Given the description of an element on the screen output the (x, y) to click on. 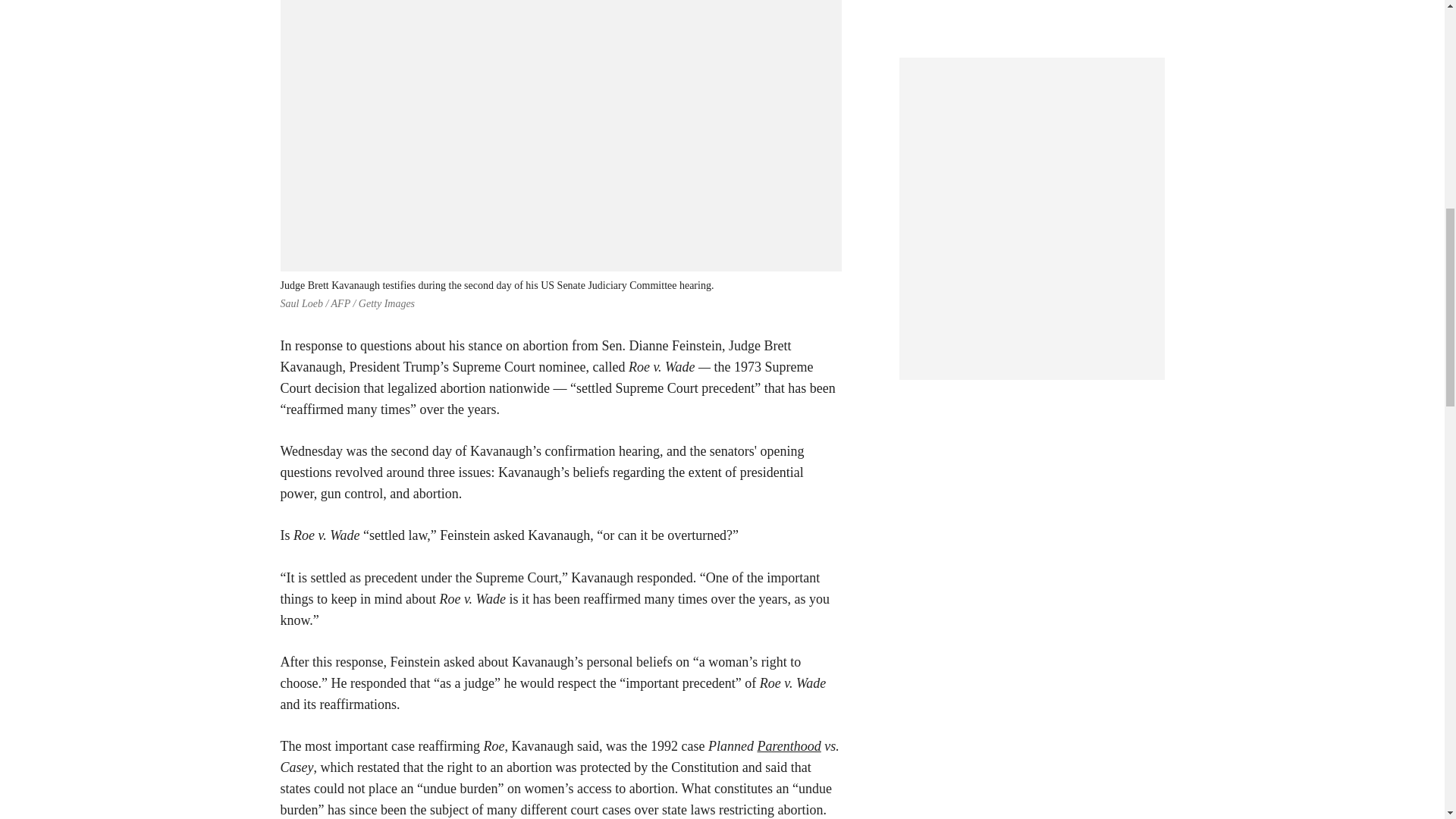
Parenthood (789, 745)
